Given the description of an element on the screen output the (x, y) to click on. 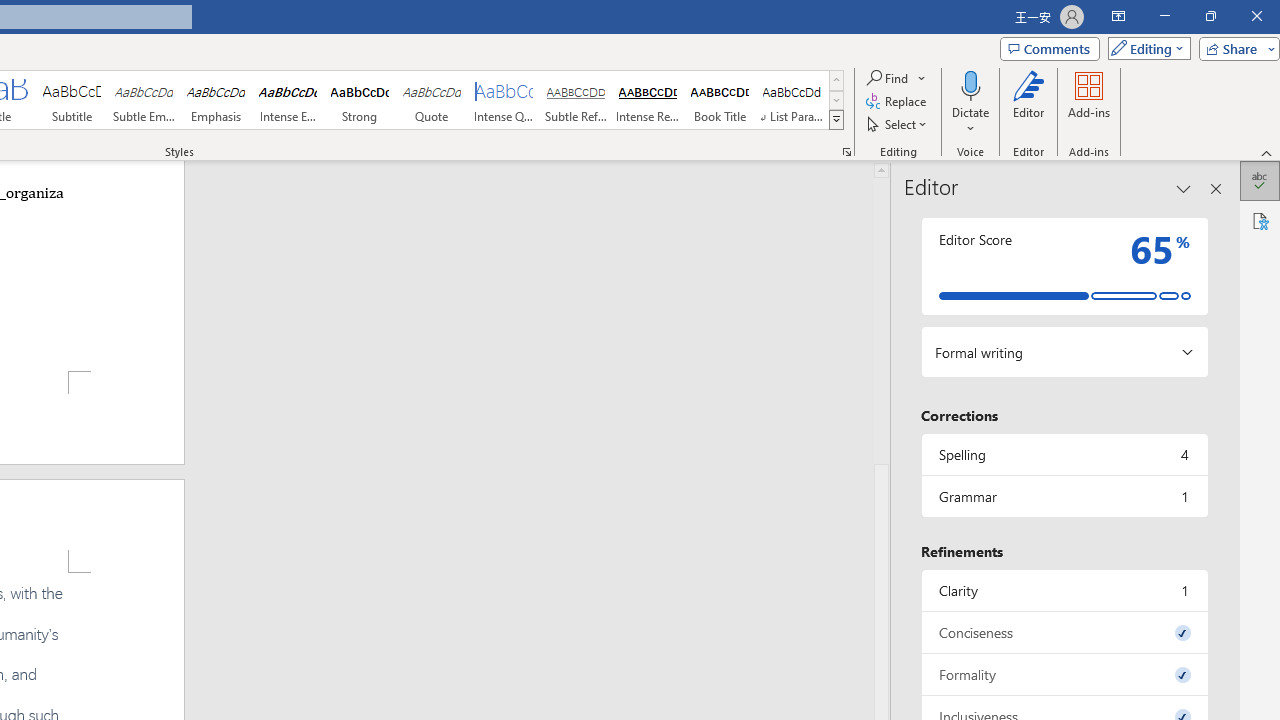
Dictate (970, 102)
Styles... (846, 151)
Replace... (897, 101)
Intense Quote (504, 100)
Editor Score 65% (1064, 266)
Share (1235, 48)
Row up (836, 79)
Subtitle (71, 100)
Strong (359, 100)
Emphasis (216, 100)
Select (898, 124)
Close pane (1215, 188)
Clarity, 1 issue. Press space or enter to review items. (1064, 590)
Restore Down (1210, 16)
